Given the description of an element on the screen output the (x, y) to click on. 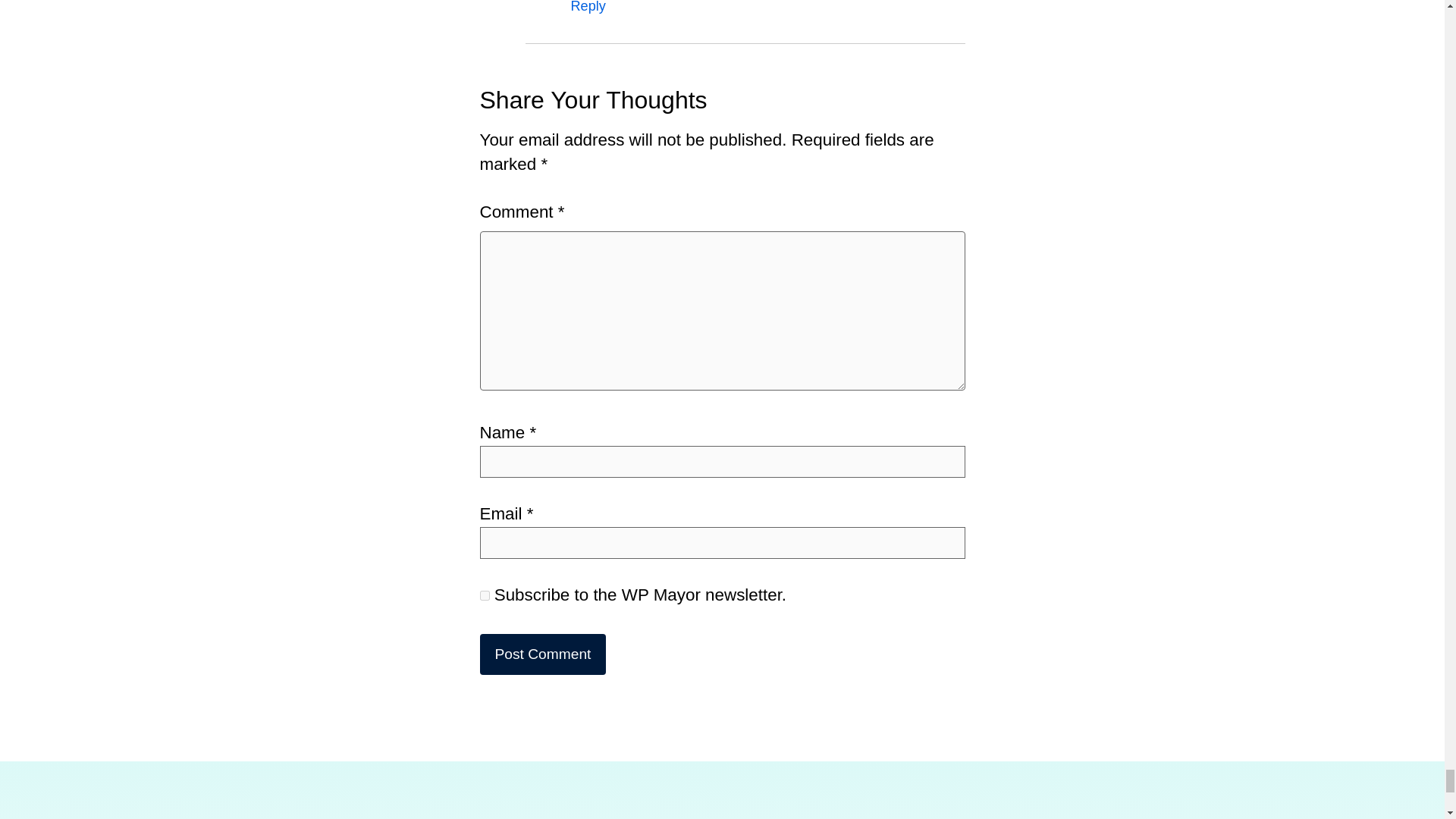
Post Comment (542, 654)
1 (484, 595)
